Given the description of an element on the screen output the (x, y) to click on. 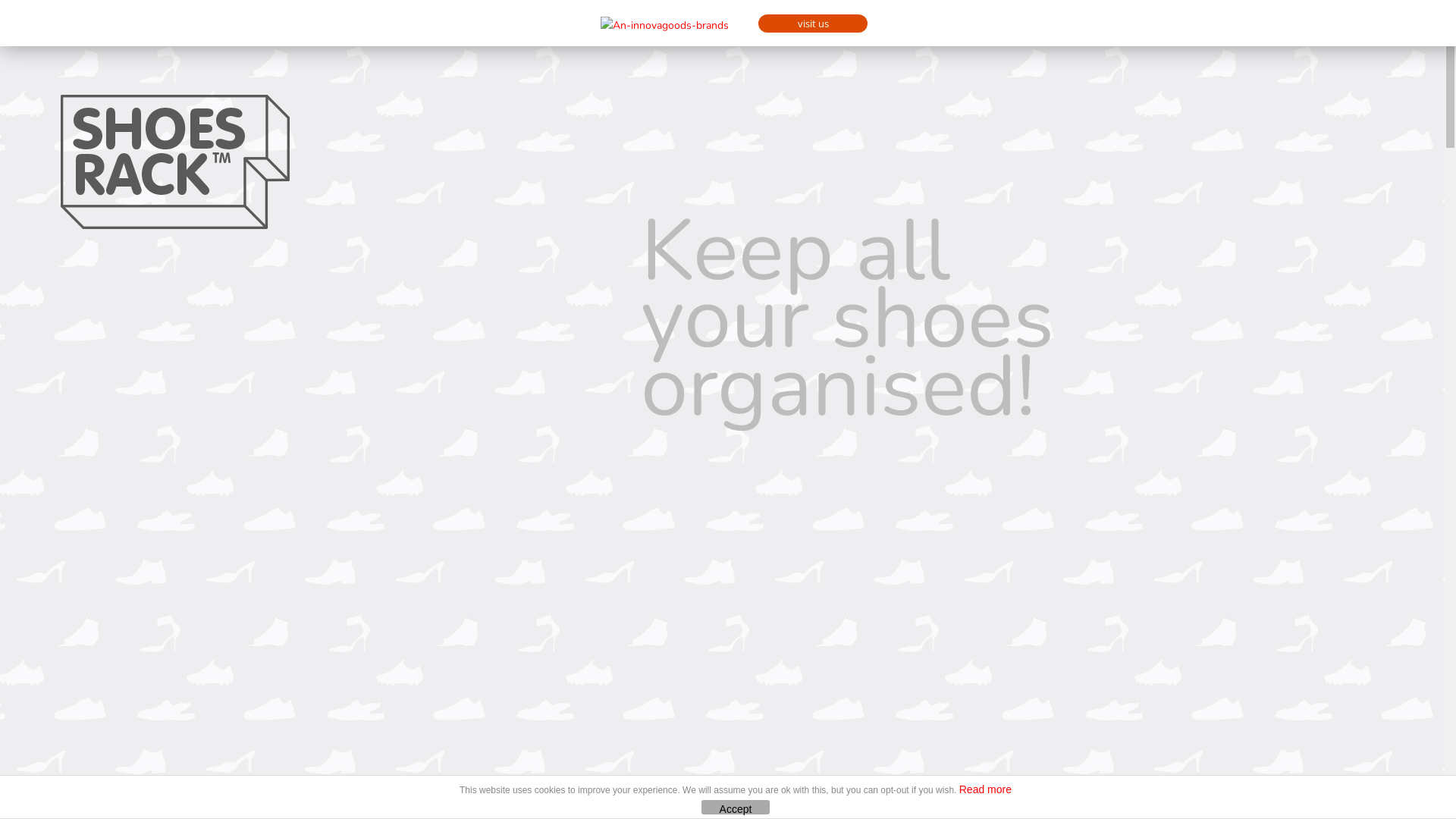
Visit us Element type: hover (679, 25)
ACEPTAR Element type: text (735, 807)
visit us Element type: text (812, 23)
Read more Element type: text (985, 789)
